Given the description of an element on the screen output the (x, y) to click on. 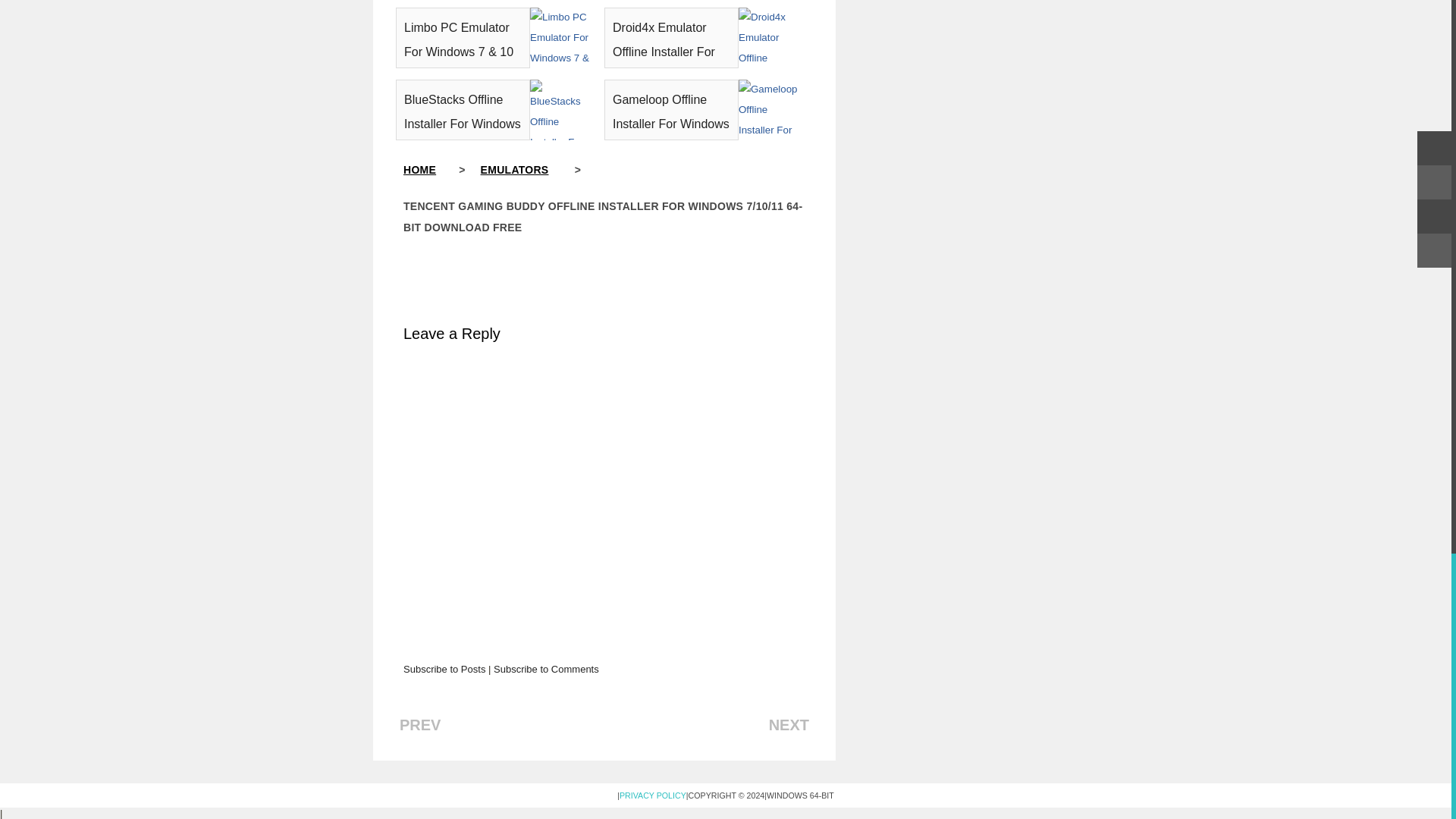
NEXT (788, 724)
PRIVACY POLICY (652, 795)
Subscribe to Comments (545, 668)
PREV (420, 724)
Newer Post (788, 724)
HOME (430, 169)
Older Post (420, 724)
EMULATORS (526, 169)
Subscribe to Posts (443, 668)
